Given the description of an element on the screen output the (x, y) to click on. 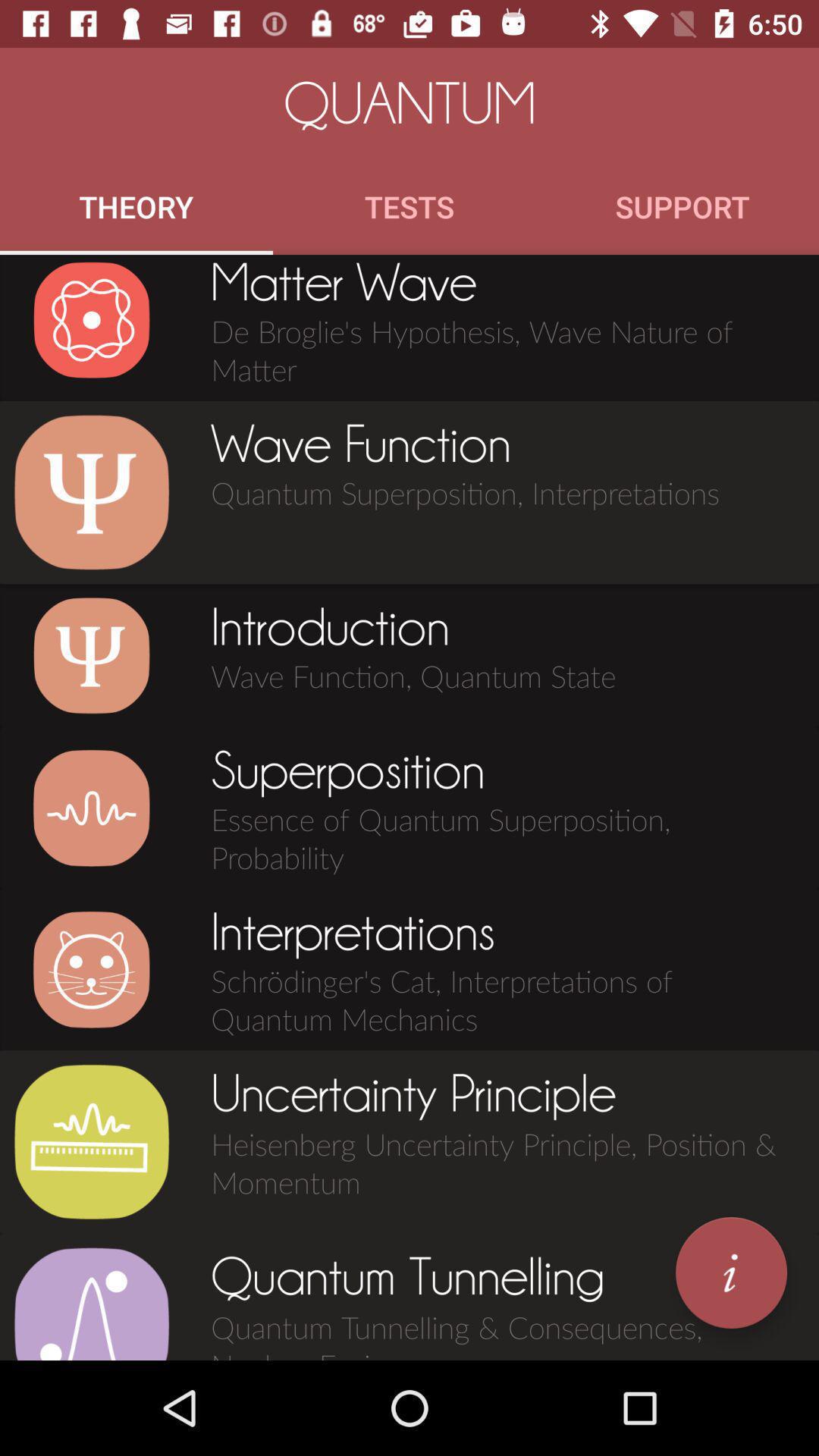
quantum superposition state (91, 807)
